Given the description of an element on the screen output the (x, y) to click on. 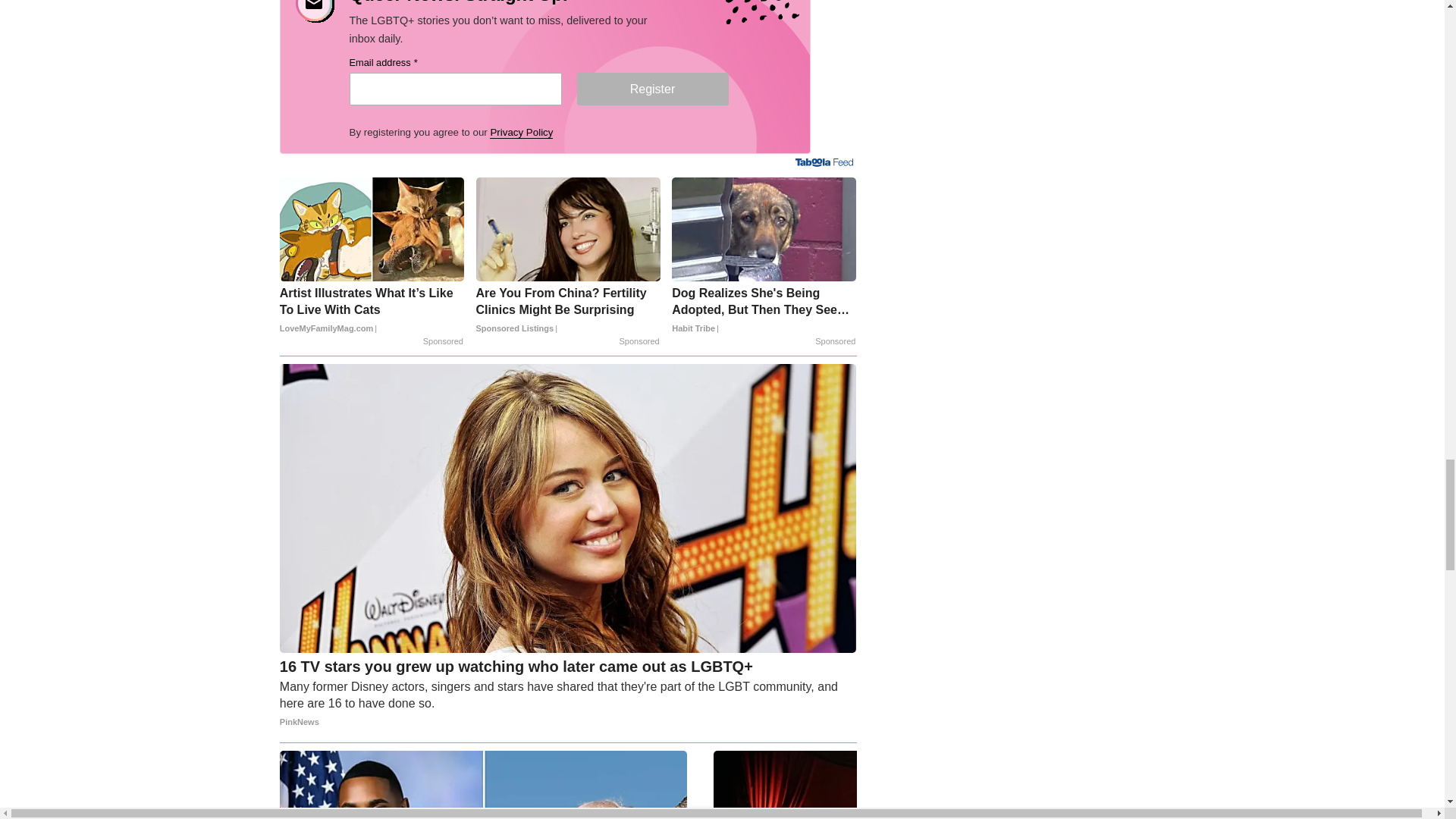
Are You From China? Fertility Clinics Might Be Surprising (568, 310)
